Given the description of an element on the screen output the (x, y) to click on. 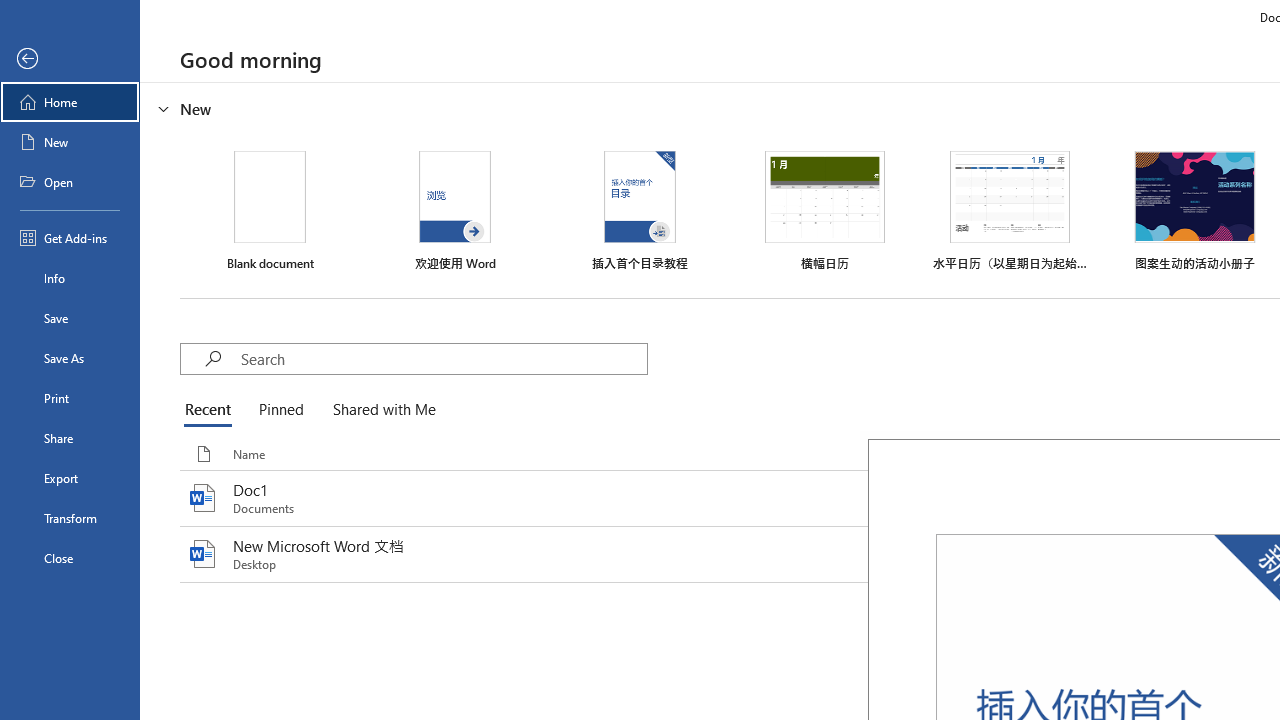
Open (69, 182)
Recent (212, 410)
Share (69, 437)
System (10, 11)
Transform (69, 517)
Search (443, 358)
Print (69, 398)
